Given the description of an element on the screen output the (x, y) to click on. 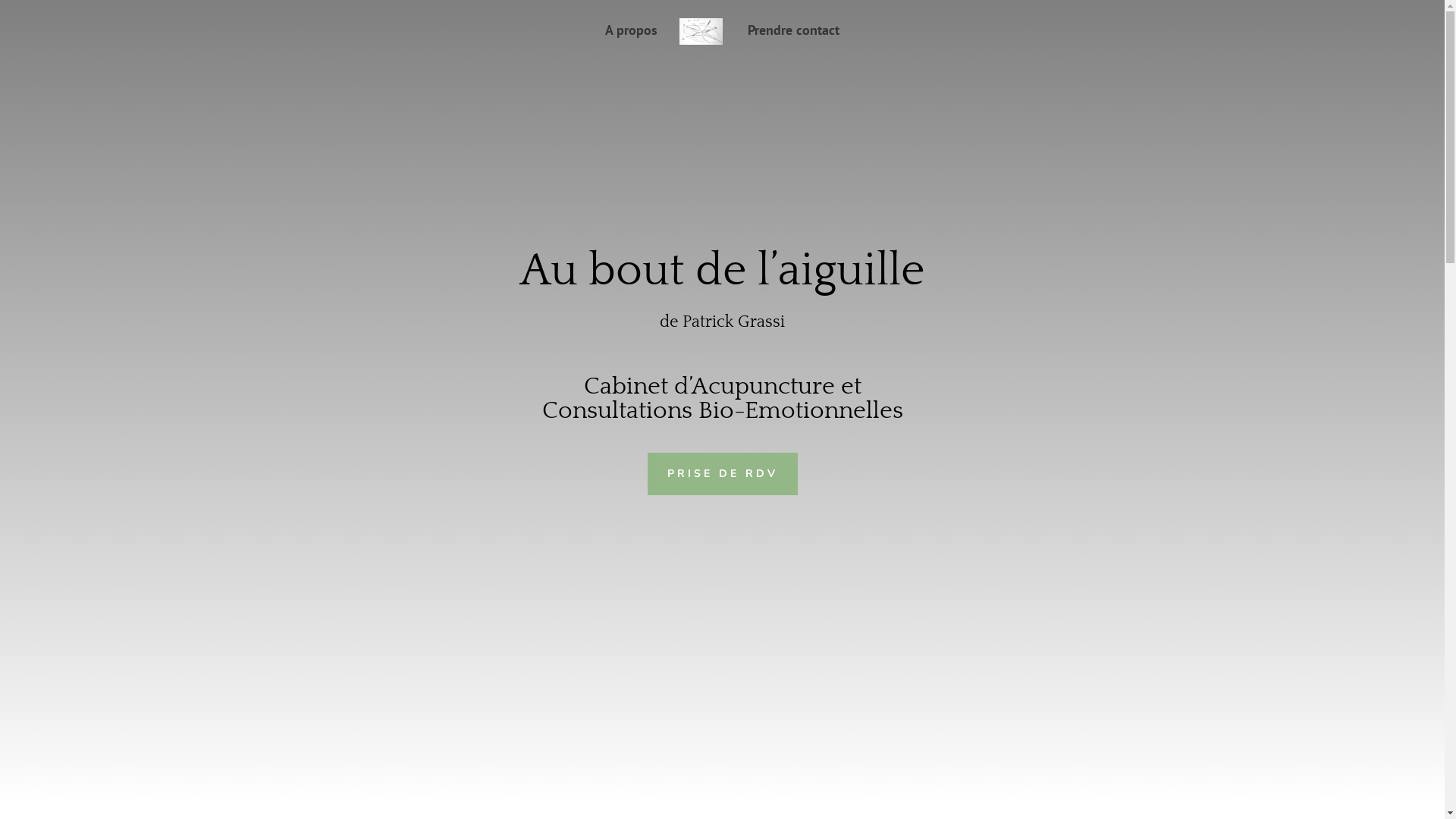
A propos Element type: text (631, 42)
Prendre contact Element type: text (793, 42)
PRISE DE RDV Element type: text (722, 473)
